Given the description of an element on the screen output the (x, y) to click on. 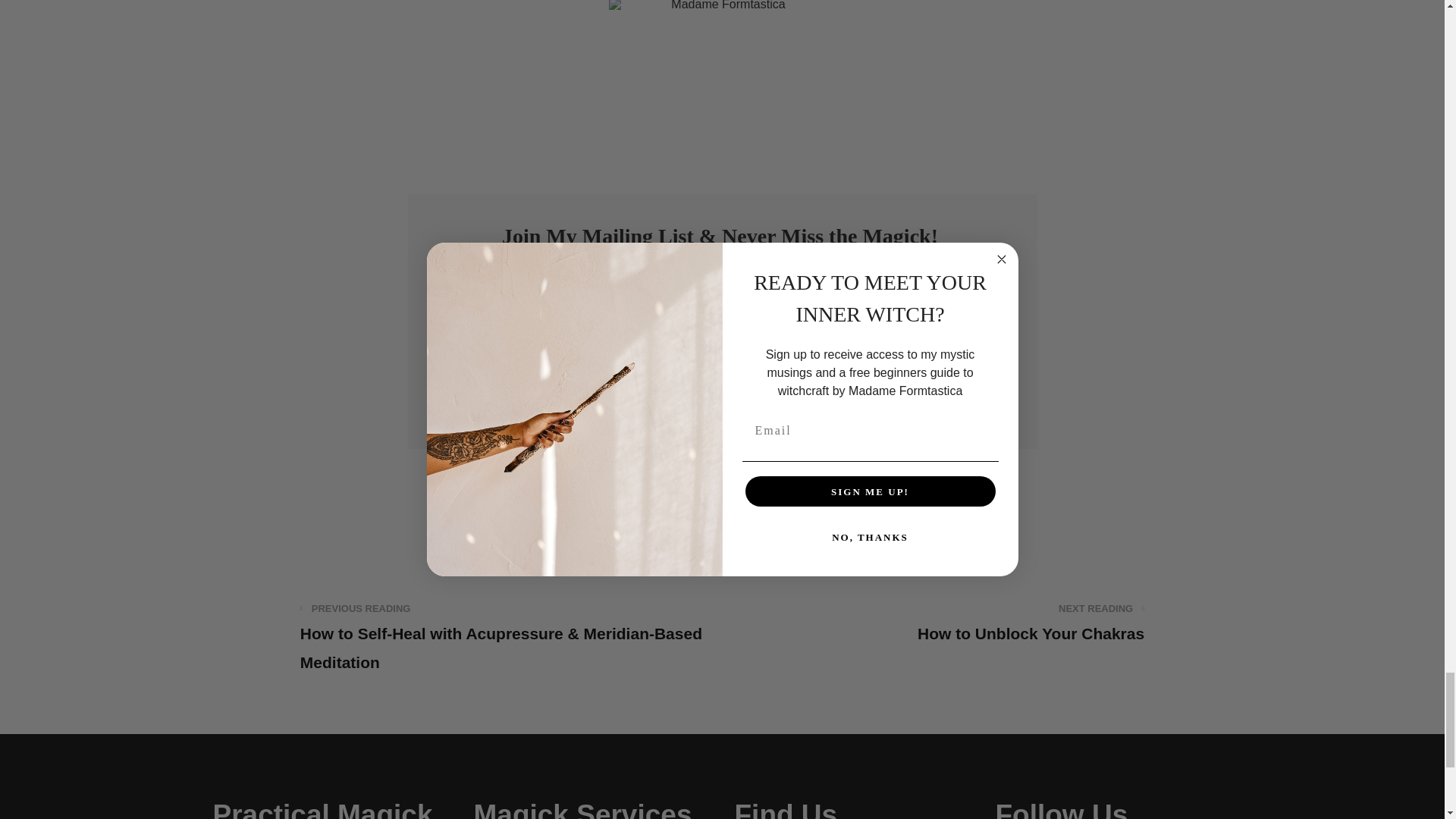
SUBSCRIBE (721, 389)
VALENTINE (721, 523)
